Given the description of an element on the screen output the (x, y) to click on. 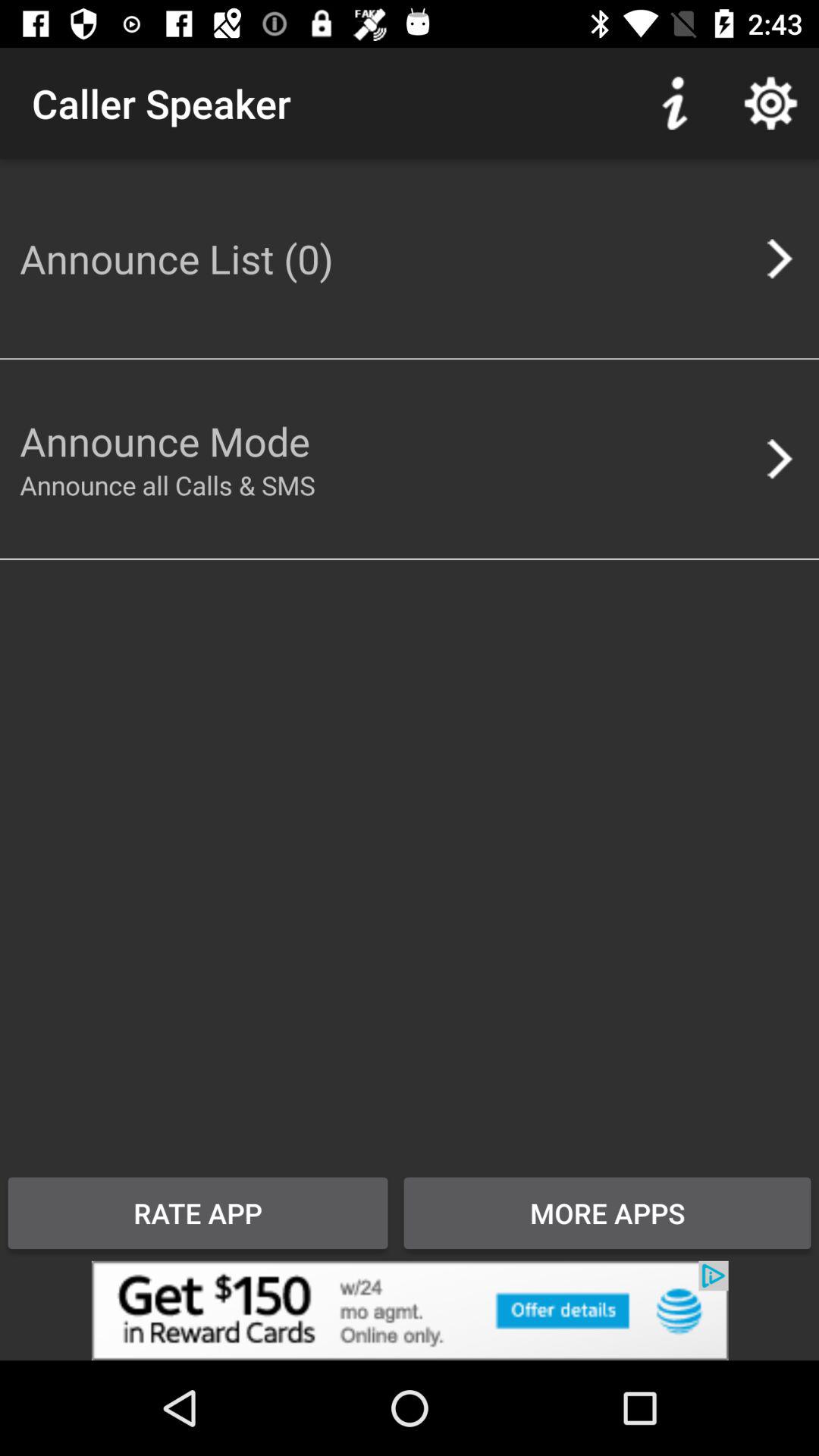
view advertisement (409, 1310)
